Given the description of an element on the screen output the (x, y) to click on. 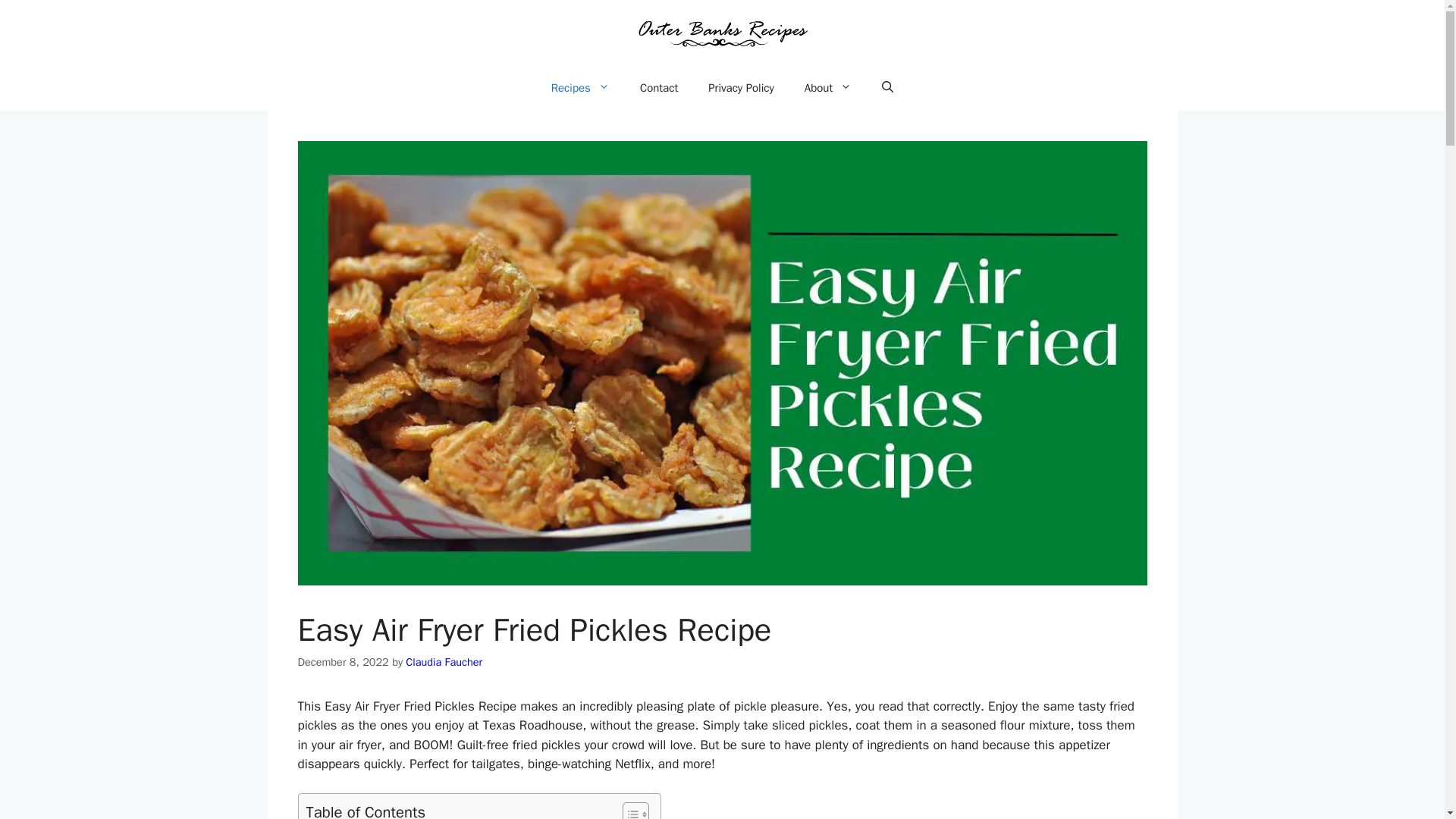
About (827, 87)
Recipes (579, 87)
Contact (658, 87)
Privacy Policy (741, 87)
View all posts by Claudia Faucher (443, 662)
Claudia Faucher (443, 662)
